Given the description of an element on the screen output the (x, y) to click on. 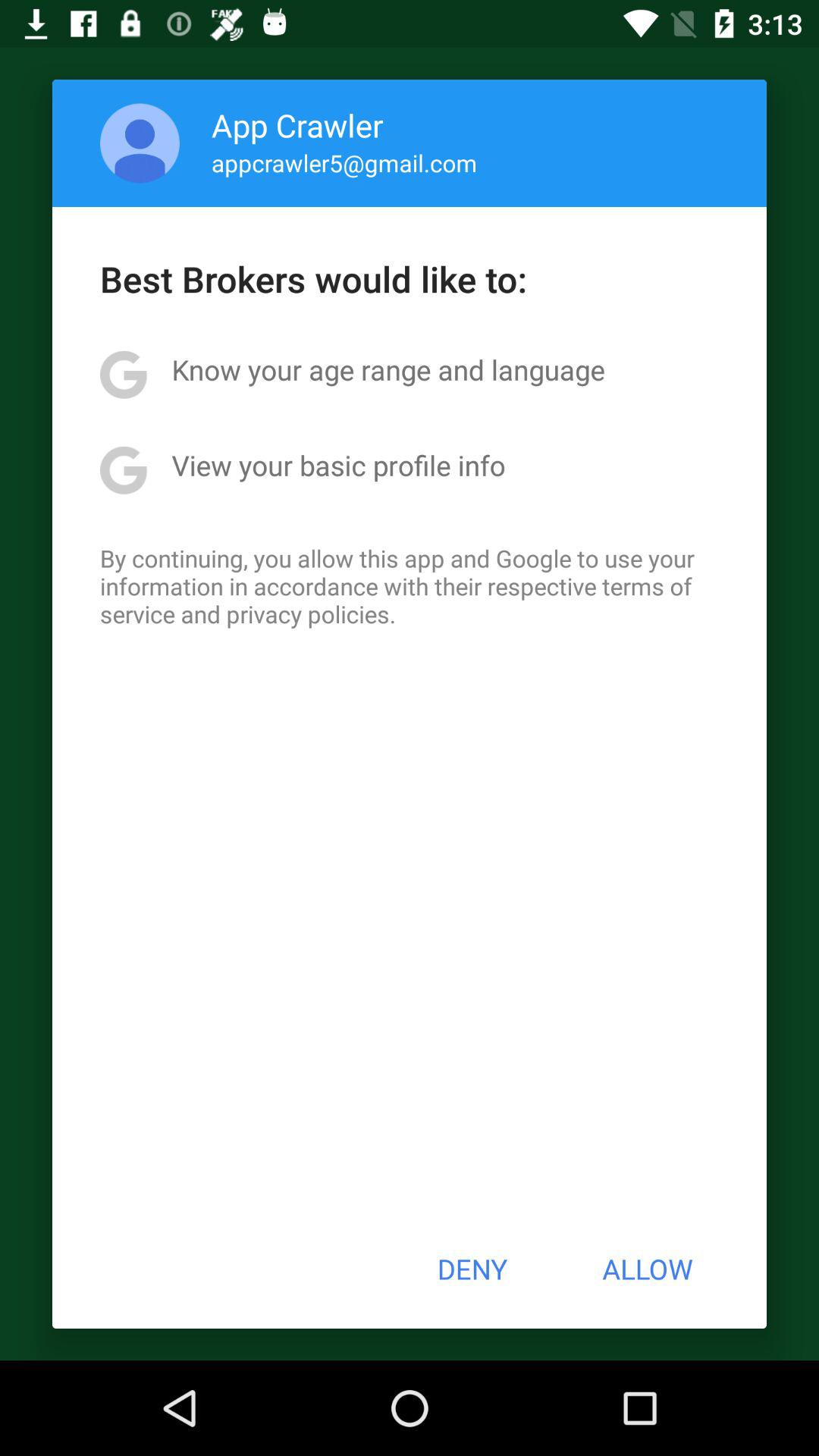
flip until app crawler item (297, 124)
